Given the description of an element on the screen output the (x, y) to click on. 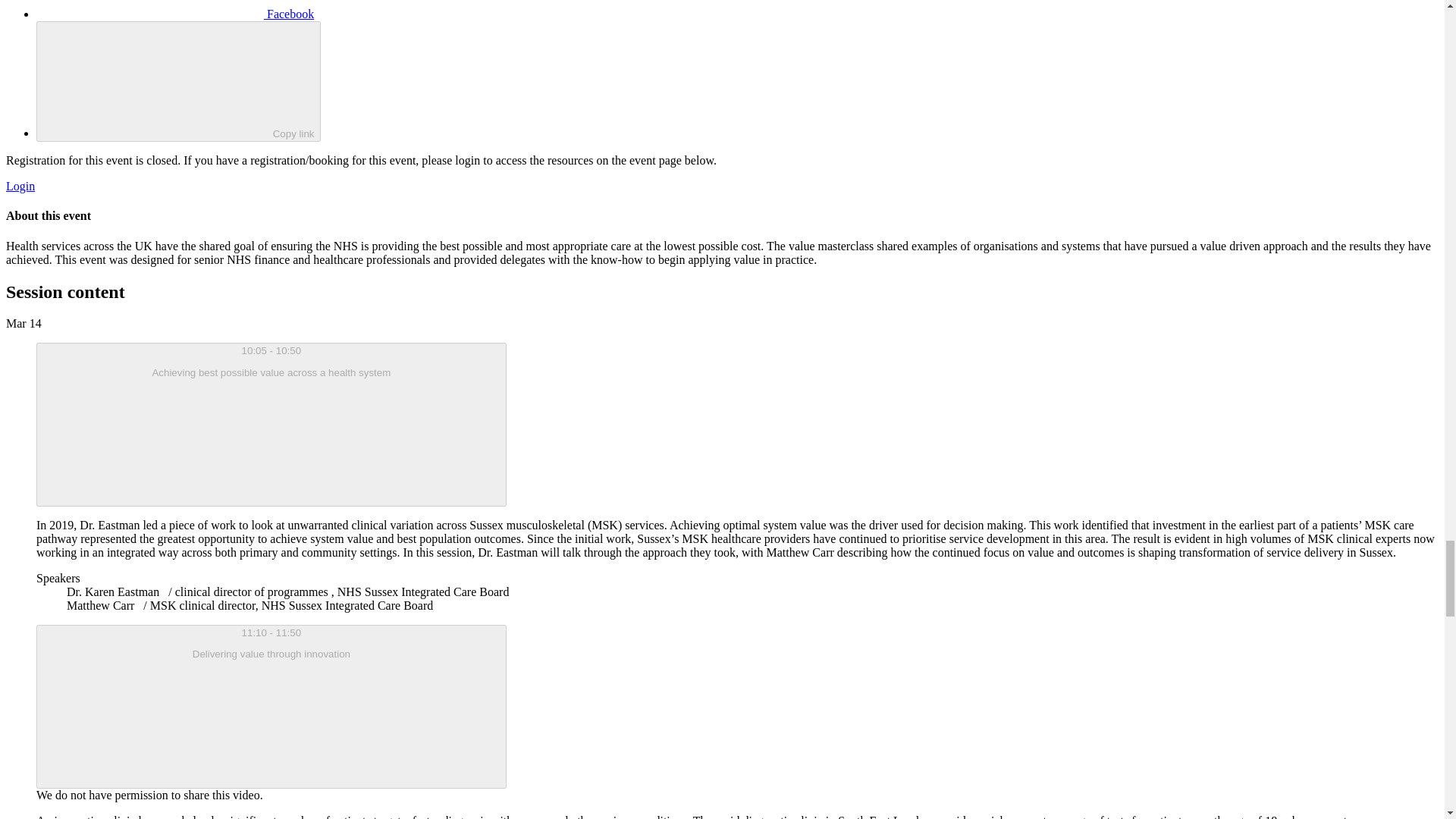
Share via Facebook (175, 13)
